Given the description of an element on the screen output the (x, y) to click on. 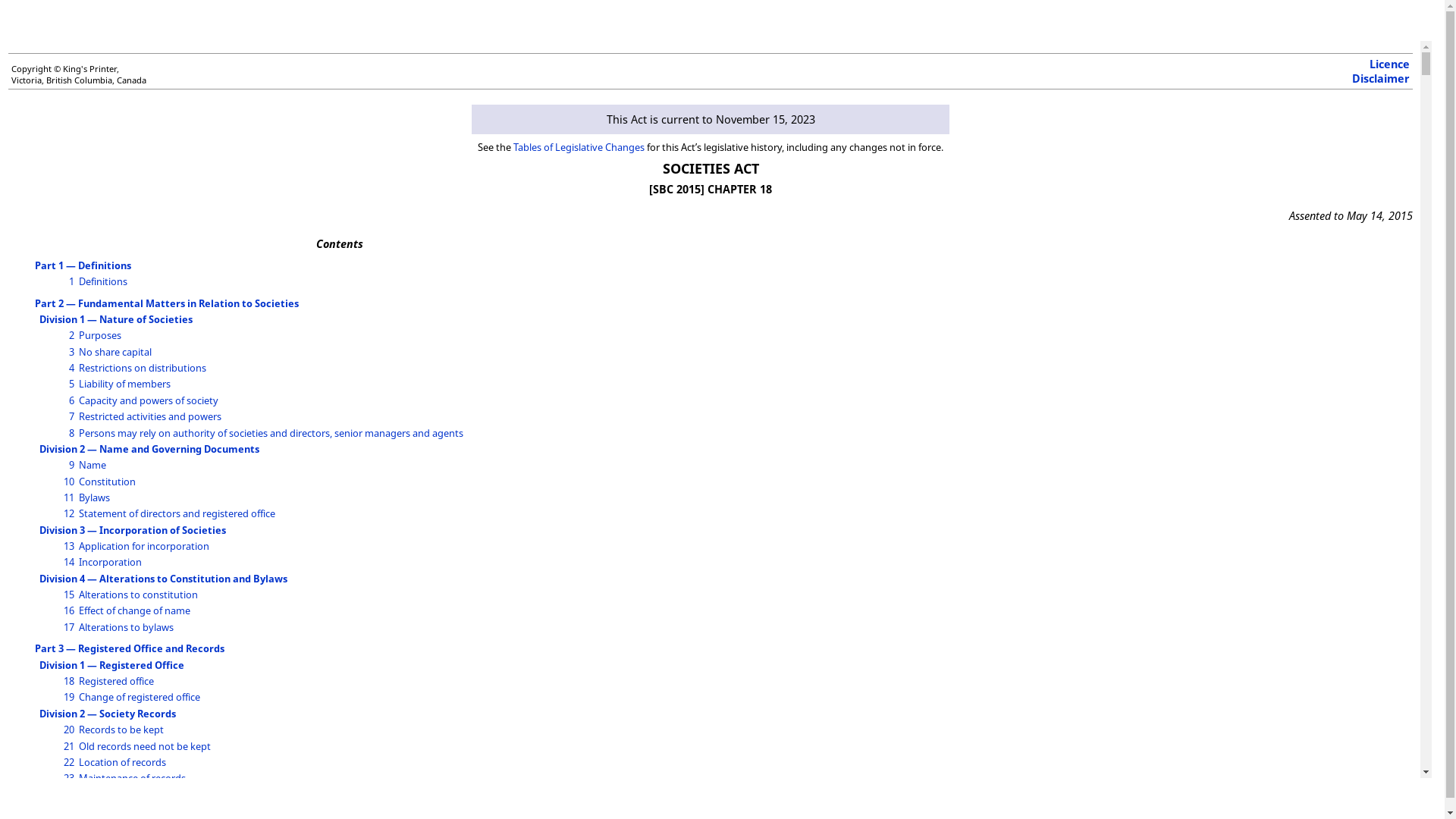
7 Element type: text (71, 416)
Purposes Element type: text (99, 335)
Definitions Element type: text (102, 281)
6 Element type: text (71, 400)
Capacity and powers of society Element type: text (148, 400)
Licence Element type: text (1389, 63)
Old records need not be kept Element type: text (144, 746)
Inspection of records Element type: text (126, 794)
Statement of directors and registered office Element type: text (176, 513)
Change of registered office Element type: text (139, 696)
19 Element type: text (68, 696)
12 Element type: text (68, 513)
3 Element type: text (71, 351)
Alterations to constitution Element type: text (137, 594)
18 Element type: text (68, 680)
2 Element type: text (71, 335)
Bylaws Element type: text (93, 497)
4 Element type: text (71, 367)
Registered office Element type: text (115, 680)
Disclaimer Element type: text (1380, 78)
21 Element type: text (68, 746)
Application for incorporation Element type: text (143, 545)
No share capital Element type: text (114, 351)
Inspection of register of members may be restricted Element type: text (195, 810)
14 Element type: text (68, 561)
Location of records Element type: text (122, 761)
16 Element type: text (68, 610)
17 Element type: text (68, 626)
11 Element type: text (68, 497)
Records to be kept Element type: text (120, 729)
13 Element type: text (68, 545)
Liability of members Element type: text (124, 383)
9 Element type: text (71, 464)
Effect of change of name Element type: text (134, 610)
Restricted activities and powers Element type: text (149, 416)
Name Element type: text (92, 464)
20 Element type: text (68, 729)
22 Element type: text (68, 761)
Restrictions on distributions Element type: text (142, 367)
8 Element type: text (71, 432)
10 Element type: text (68, 481)
Tables of Legislative Changes Element type: text (578, 146)
Alterations to bylaws Element type: text (125, 626)
Incorporation Element type: text (109, 561)
15 Element type: text (68, 594)
5 Element type: text (71, 383)
24 Element type: text (68, 794)
1 Element type: text (71, 281)
23 Element type: text (68, 777)
25 Element type: text (68, 810)
Maintenance of records Element type: text (131, 777)
Constitution Element type: text (106, 481)
